Given the description of an element on the screen output the (x, y) to click on. 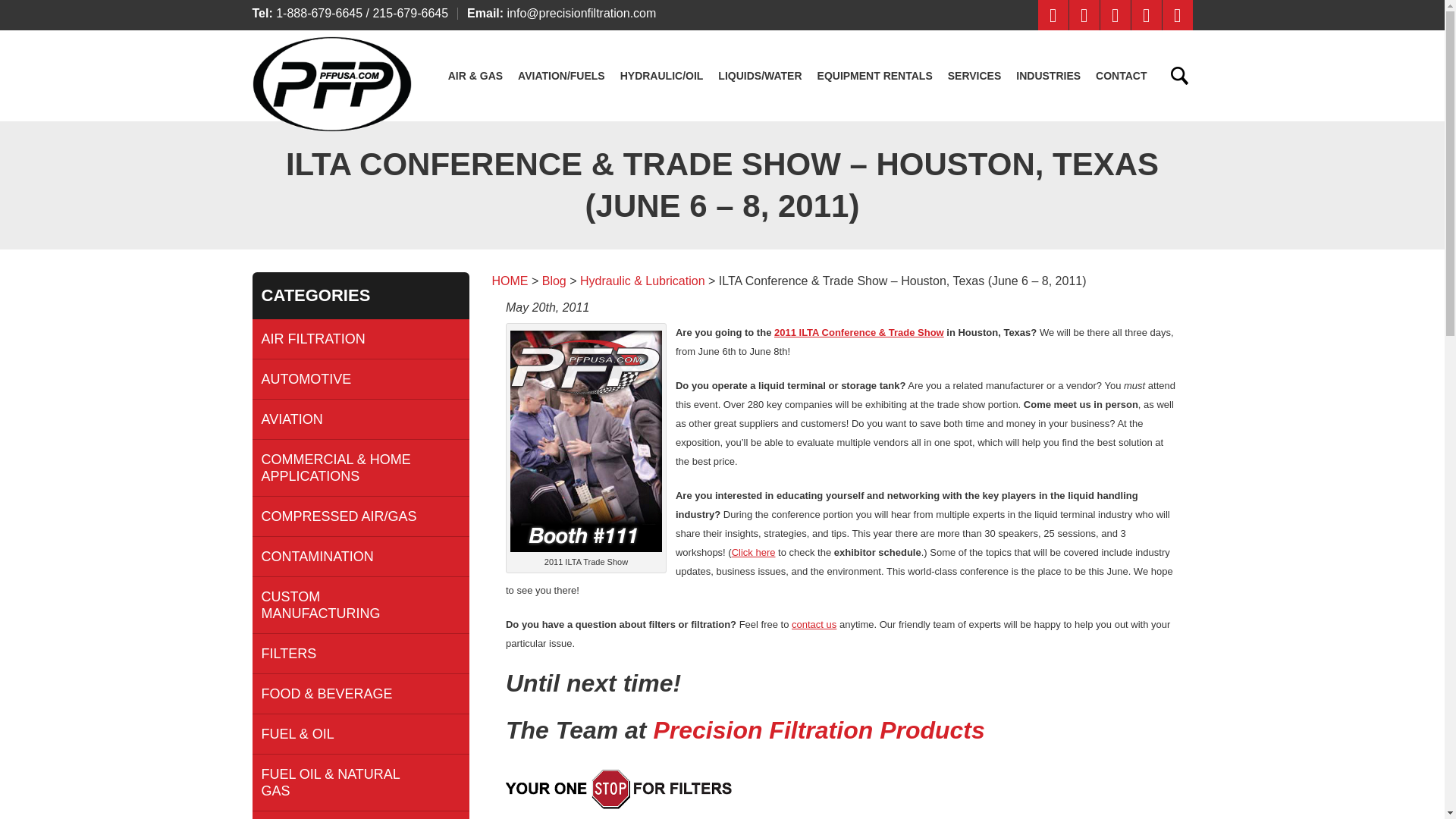
215-679-6645 (410, 12)
Go to Blog. (553, 280)
Go to Precision Filtration Products. (509, 280)
1-888-679-6645 (319, 12)
Click to Search (1179, 75)
